Given the description of an element on the screen output the (x, y) to click on. 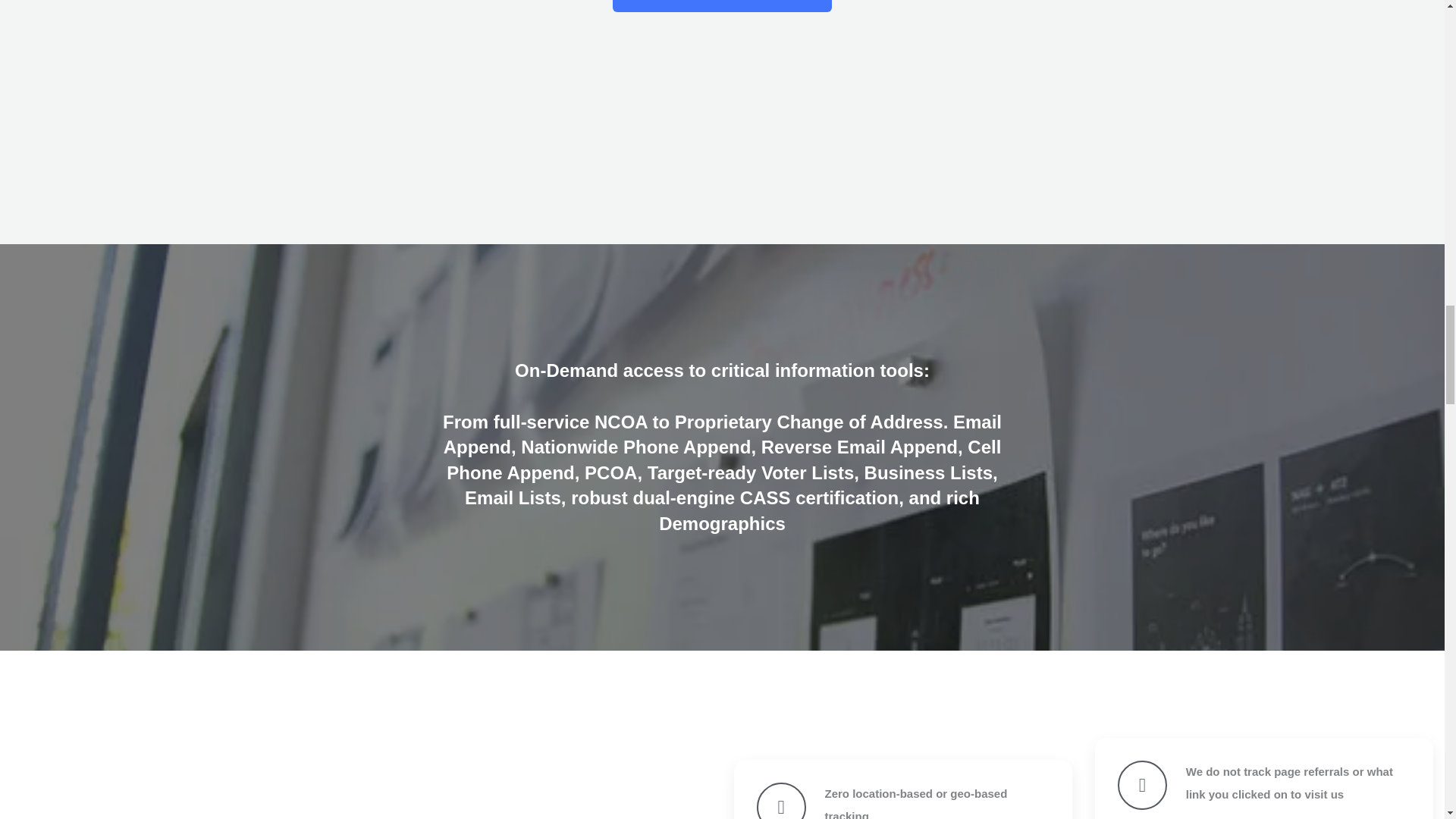
UPDATE YOUR LIST TODAY (721, 6)
Zero location-based or geo-based tracking (916, 803)
